Given the description of an element on the screen output the (x, y) to click on. 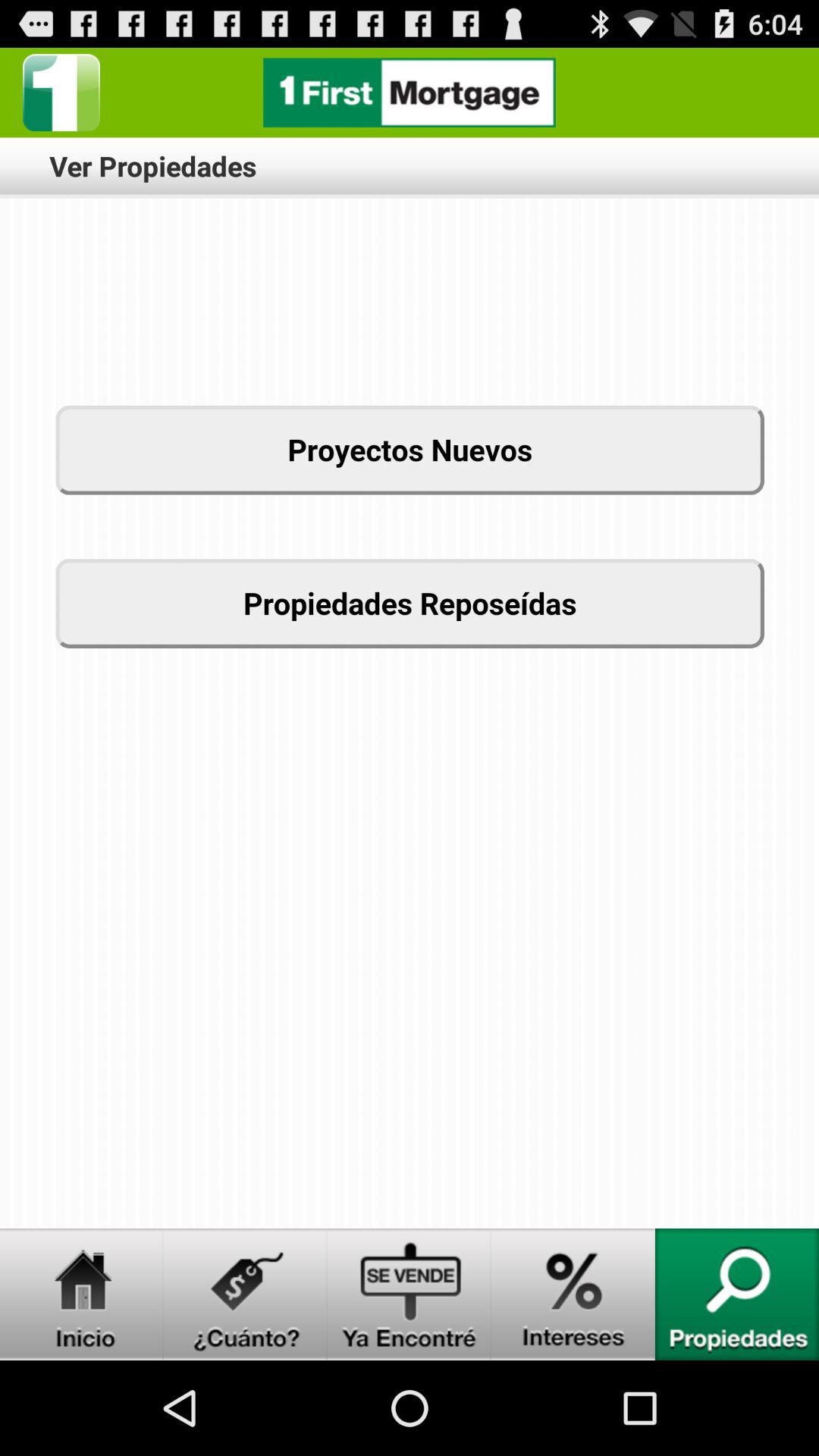
go to search (737, 1294)
